Given the description of an element on the screen output the (x, y) to click on. 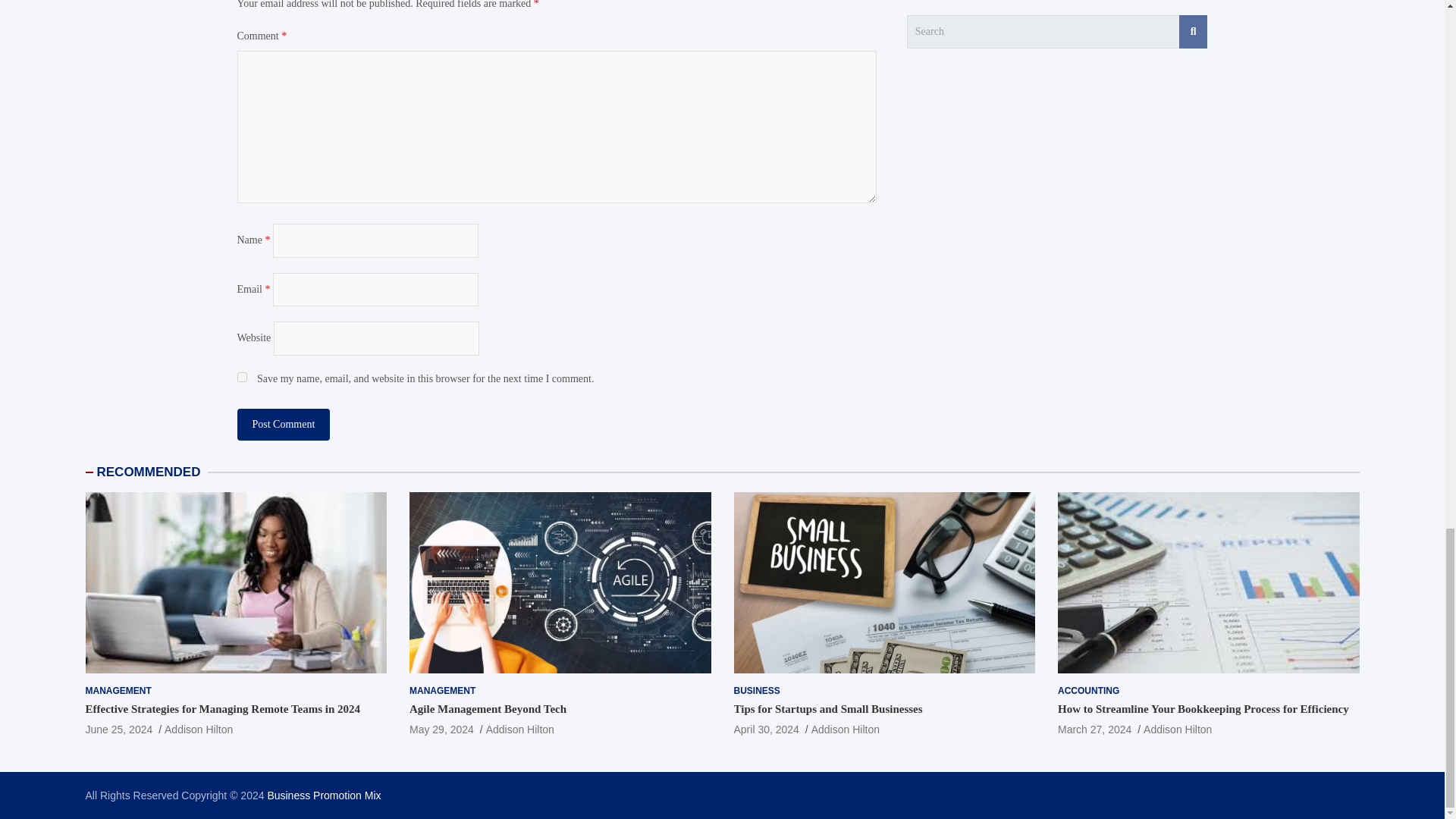
yes (240, 377)
Addison Hilton (198, 729)
Tips for Startups and Small Businesses (766, 729)
Addison Hilton (844, 729)
BUSINESS (756, 690)
Tips for Startups and Small Businesses (828, 708)
Agile Management Beyond Tech (441, 729)
June 25, 2024 (118, 729)
Post Comment (282, 424)
April 30, 2024 (766, 729)
Post Comment (282, 424)
Effective Strategies for Managing Remote Teams in 2024 (221, 708)
Business Promotion Mix (323, 795)
May 29, 2024 (441, 729)
Effective Strategies for Managing Remote Teams in 2024 (118, 729)
